Given the description of an element on the screen output the (x, y) to click on. 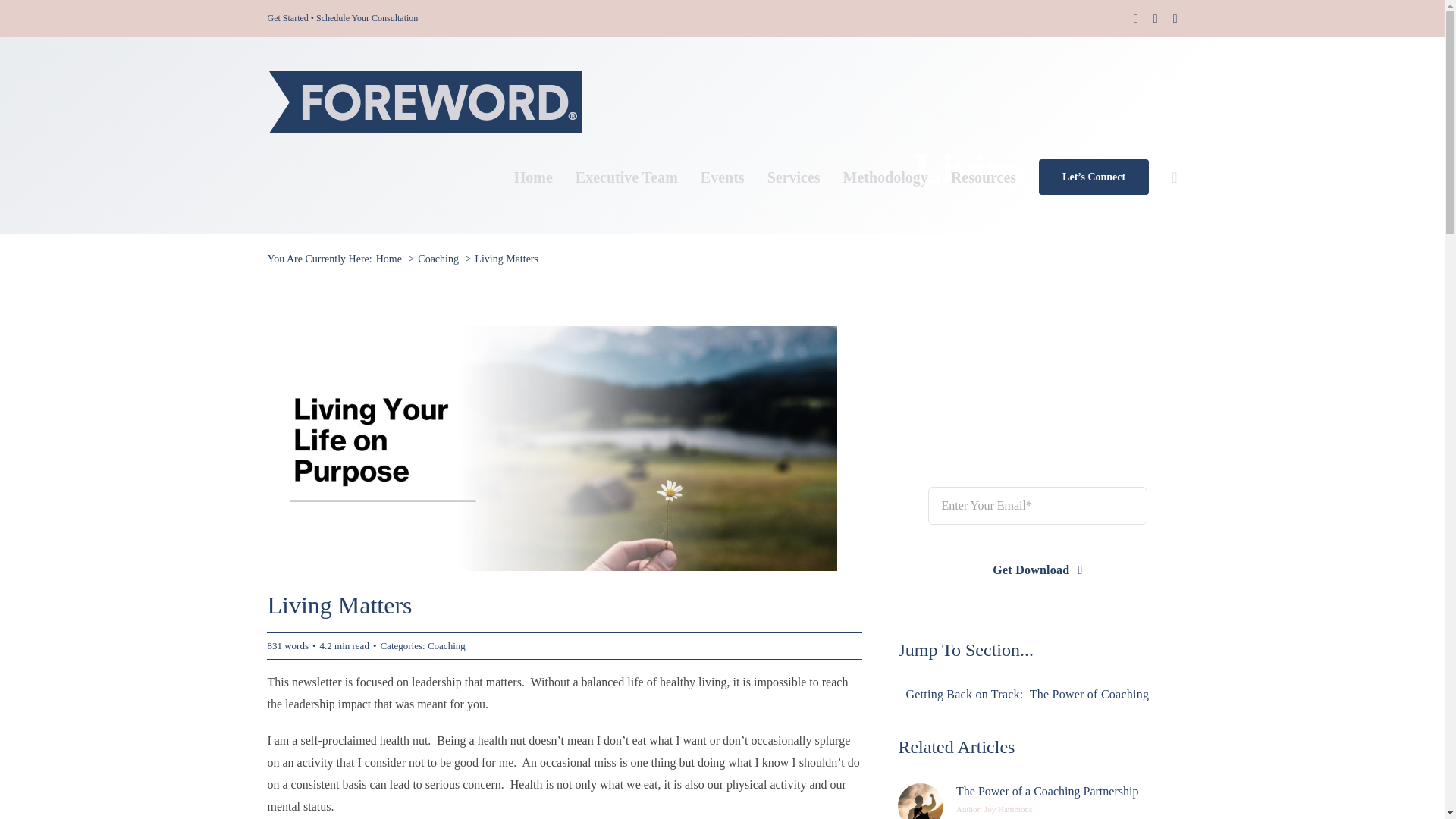
Resources (983, 176)
Get Download (1037, 569)
Events (722, 176)
Executive Team (626, 176)
Home (388, 258)
Methodology (885, 176)
Coaching (437, 258)
Services (794, 176)
Coaching (446, 645)
